Given the description of an element on the screen output the (x, y) to click on. 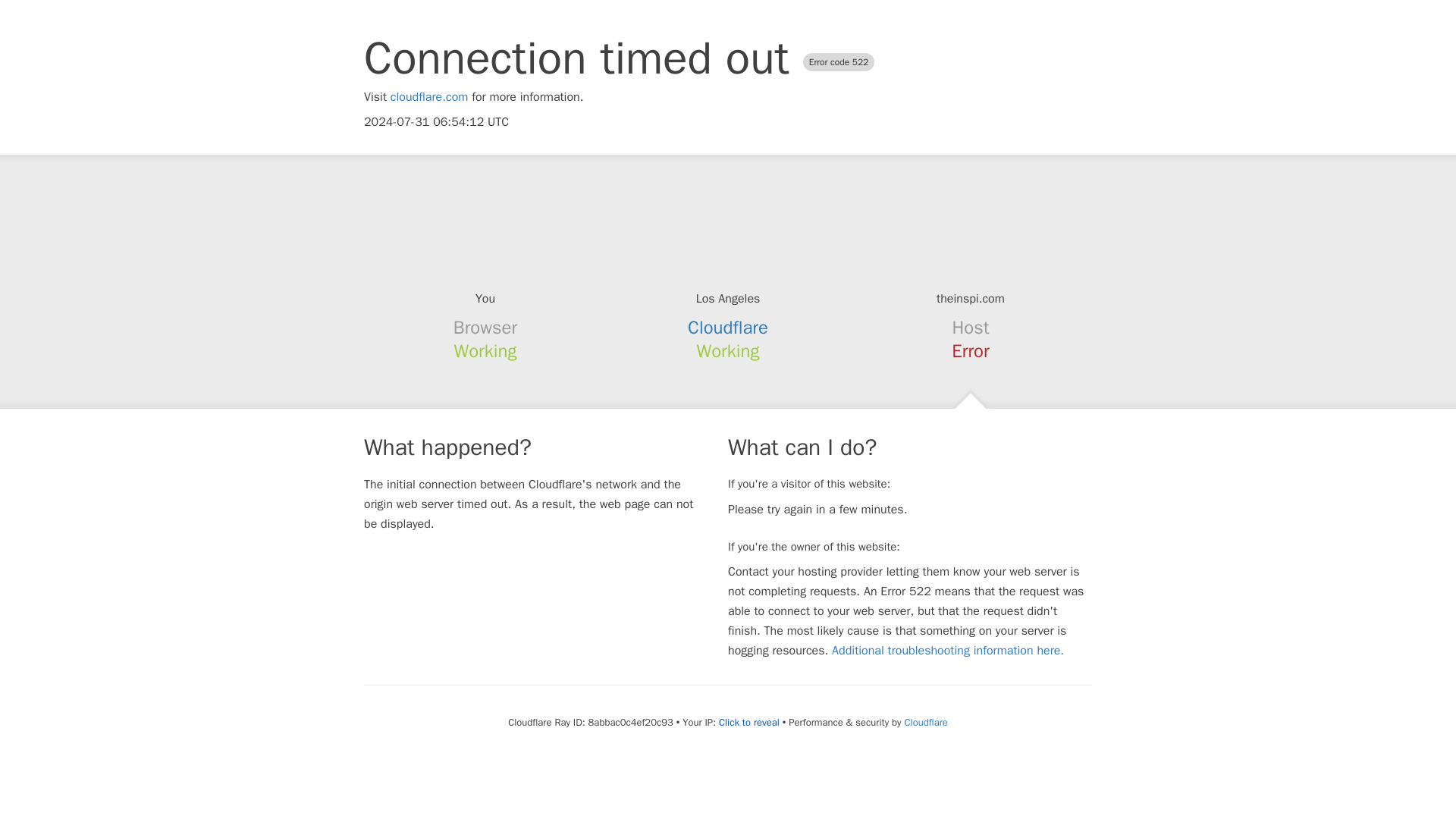
Cloudflare (925, 721)
Cloudflare (727, 327)
Click to reveal (748, 722)
Additional troubleshooting information here. (947, 650)
cloudflare.com (429, 96)
